Given the description of an element on the screen output the (x, y) to click on. 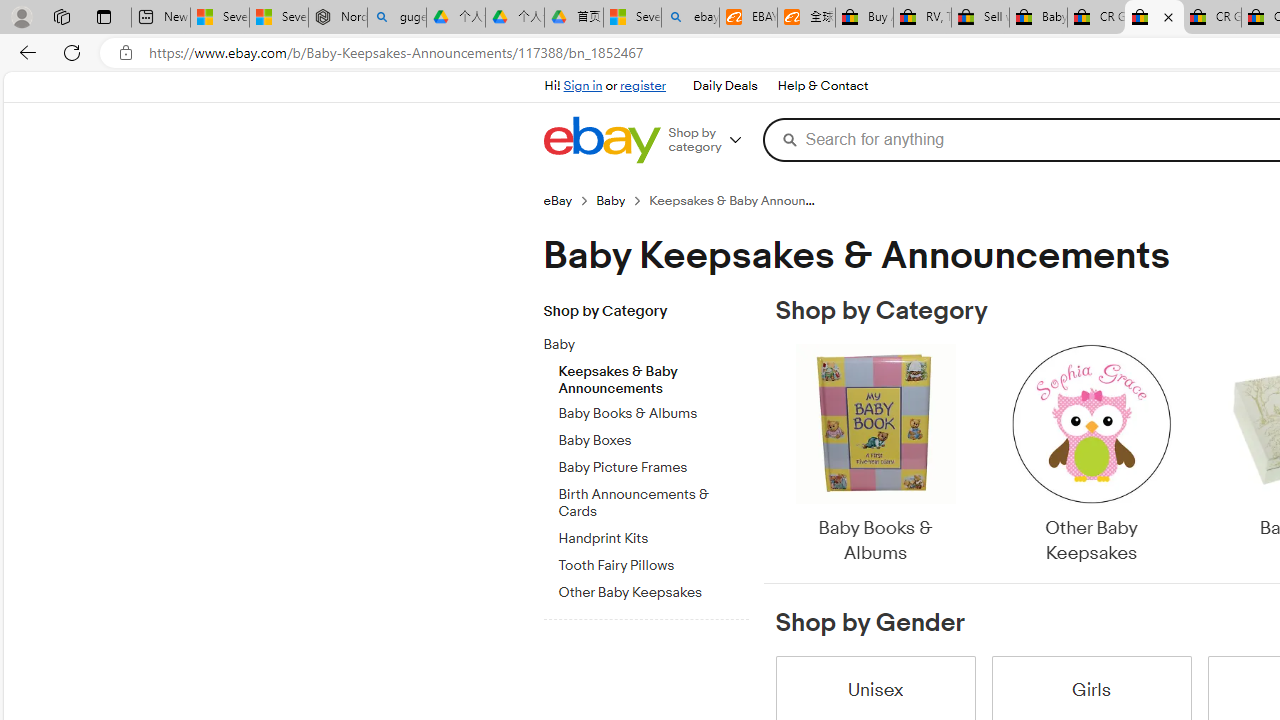
Daily Deals (724, 86)
Baby Boxes (653, 441)
Workspaces (61, 16)
guge yunpan - Search (396, 17)
Handprint Kits (653, 538)
Tooth Fairy Pillows (653, 562)
Baby Books & Albums (874, 455)
Help & Contact (822, 86)
eBay (557, 200)
Baby (653, 341)
Sell worldwide with eBay (980, 17)
New tab (160, 17)
